Given the description of an element on the screen output the (x, y) to click on. 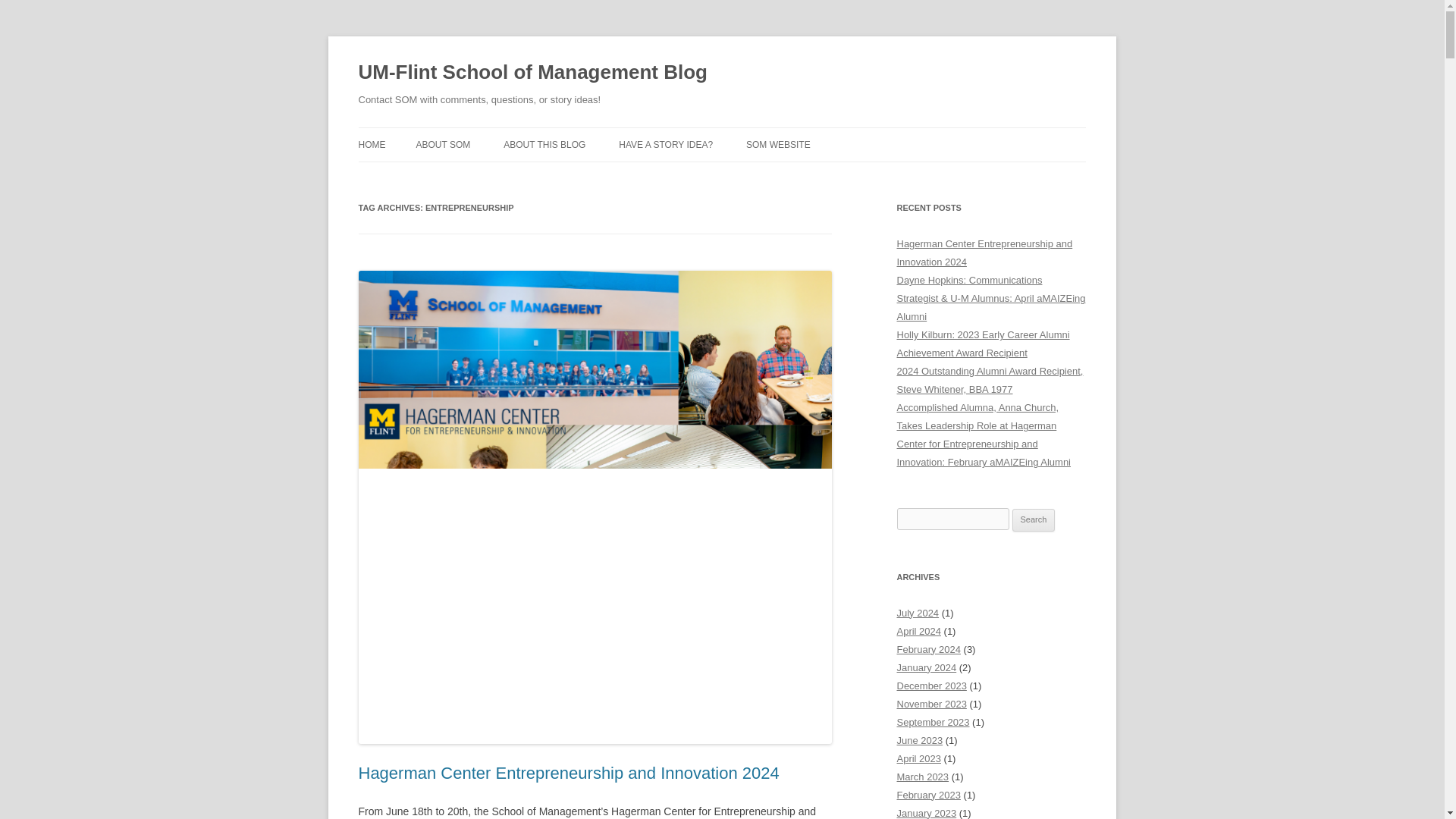
ABOUT THIS BLOG (544, 144)
Search (1033, 519)
ABOUT SOM (442, 144)
SOM WEBSITE (777, 144)
UM-Flint School of Management Blog (532, 72)
Hagerman Center Entrepreneurship and Innovation 2024 (568, 772)
HAVE A STORY IDEA? (665, 144)
